Given the description of an element on the screen output the (x, y) to click on. 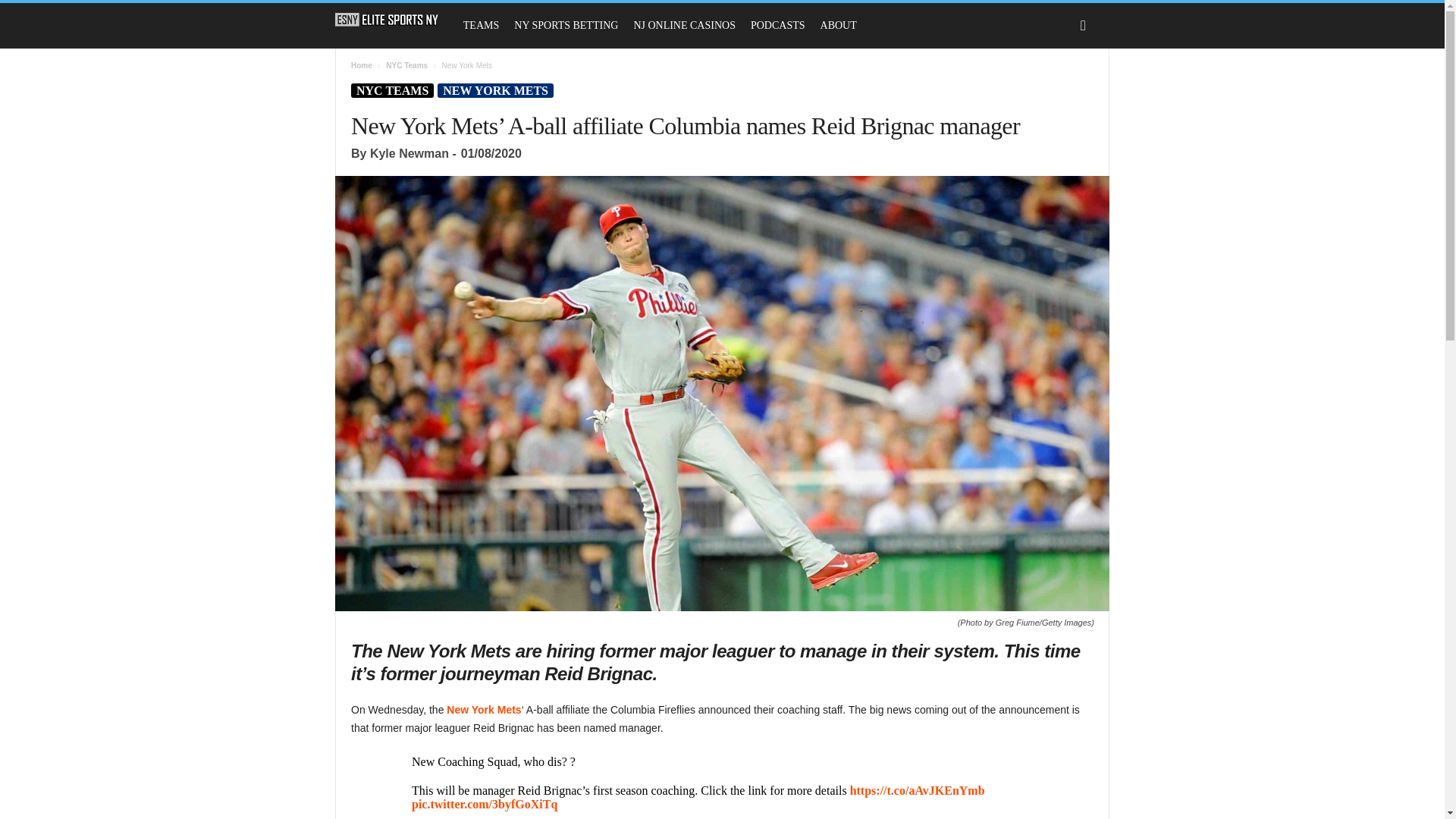
View all posts in NYC Teams (406, 65)
Elite Sports NY (394, 19)
TEAMS (480, 25)
Elite Sports NY (386, 19)
